Given the description of an element on the screen output the (x, y) to click on. 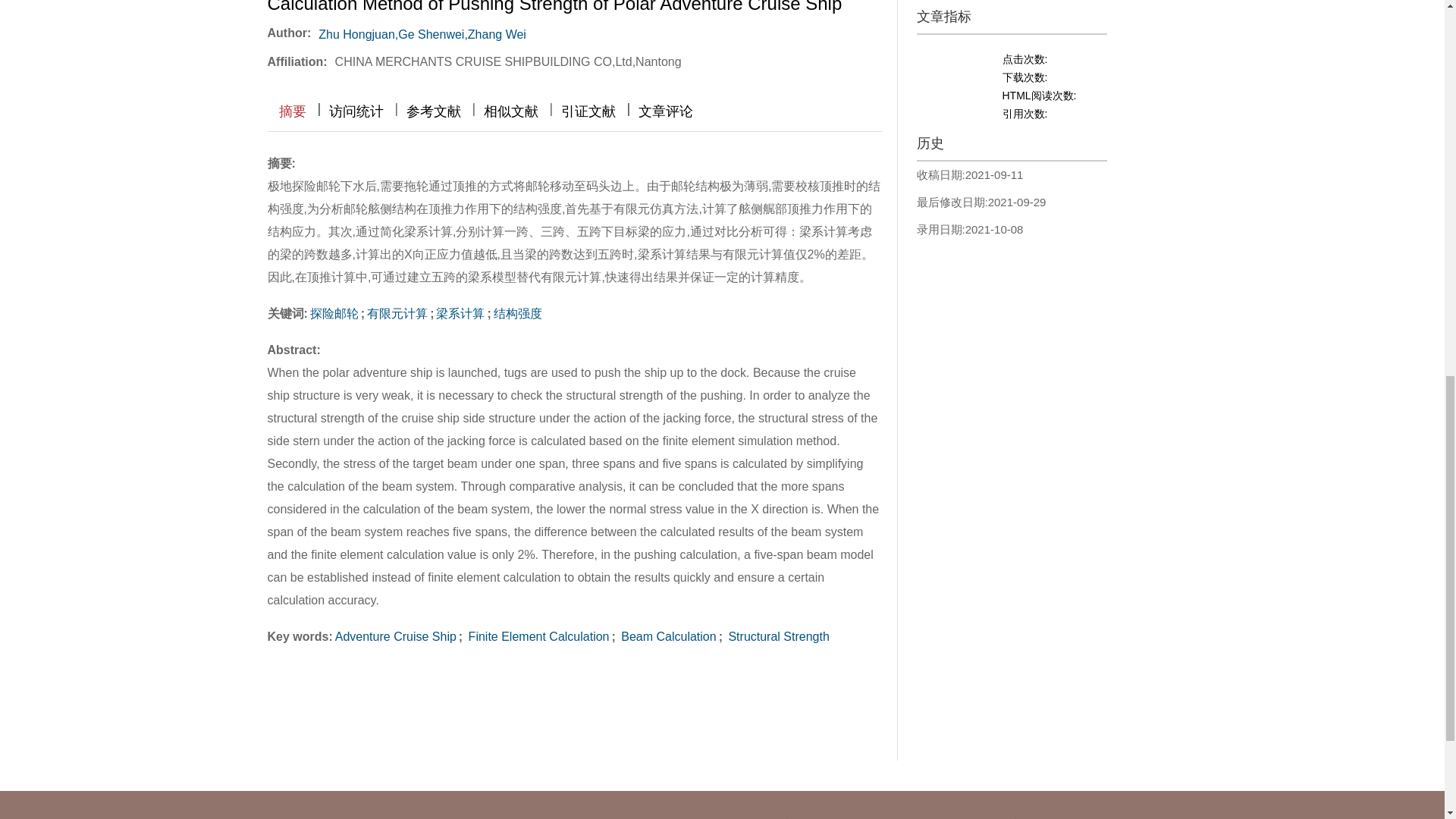
Adventure Cruise Ship (395, 635)
Contact author:Zhu Hongjuan,Ge Shenwei,Zhang Wei,Email:  (534, 31)
Zhu Hongjuan,Ge Shenwei,Zhang Wei (421, 33)
Finite Element Calculation (536, 635)
Beam Calculation (666, 635)
